Given the description of an element on the screen output the (x, y) to click on. 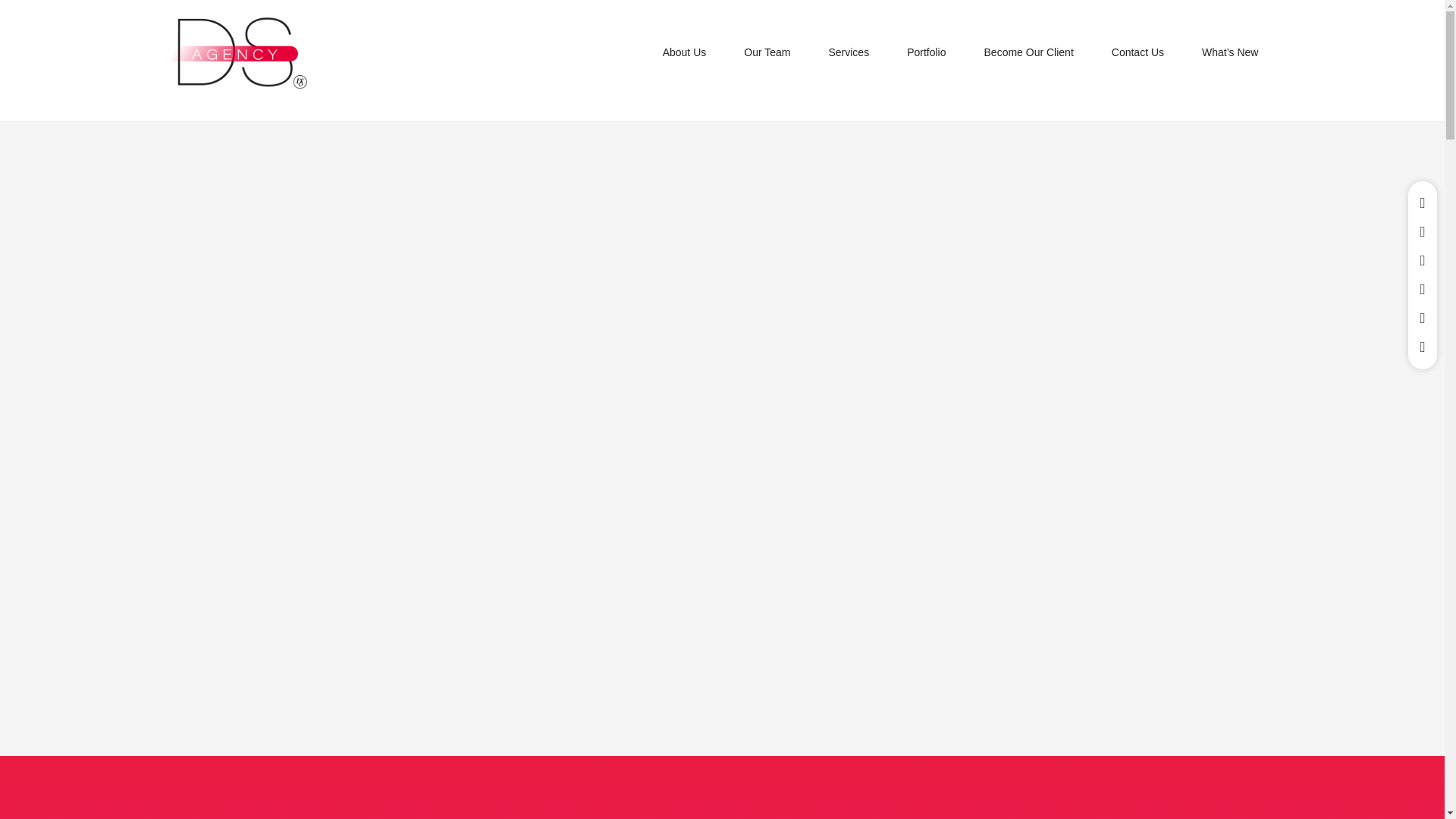
Contact Us (1137, 52)
Behance (1422, 346)
About Us (684, 52)
Instagram (1422, 231)
Envelope (1422, 317)
Portfolio (925, 52)
Services (847, 52)
Facebook (1422, 260)
Linkedin (1422, 203)
Our Team (767, 52)
Vimeo (1422, 289)
Become Our Client (1029, 52)
